Given the description of an element on the screen output the (x, y) to click on. 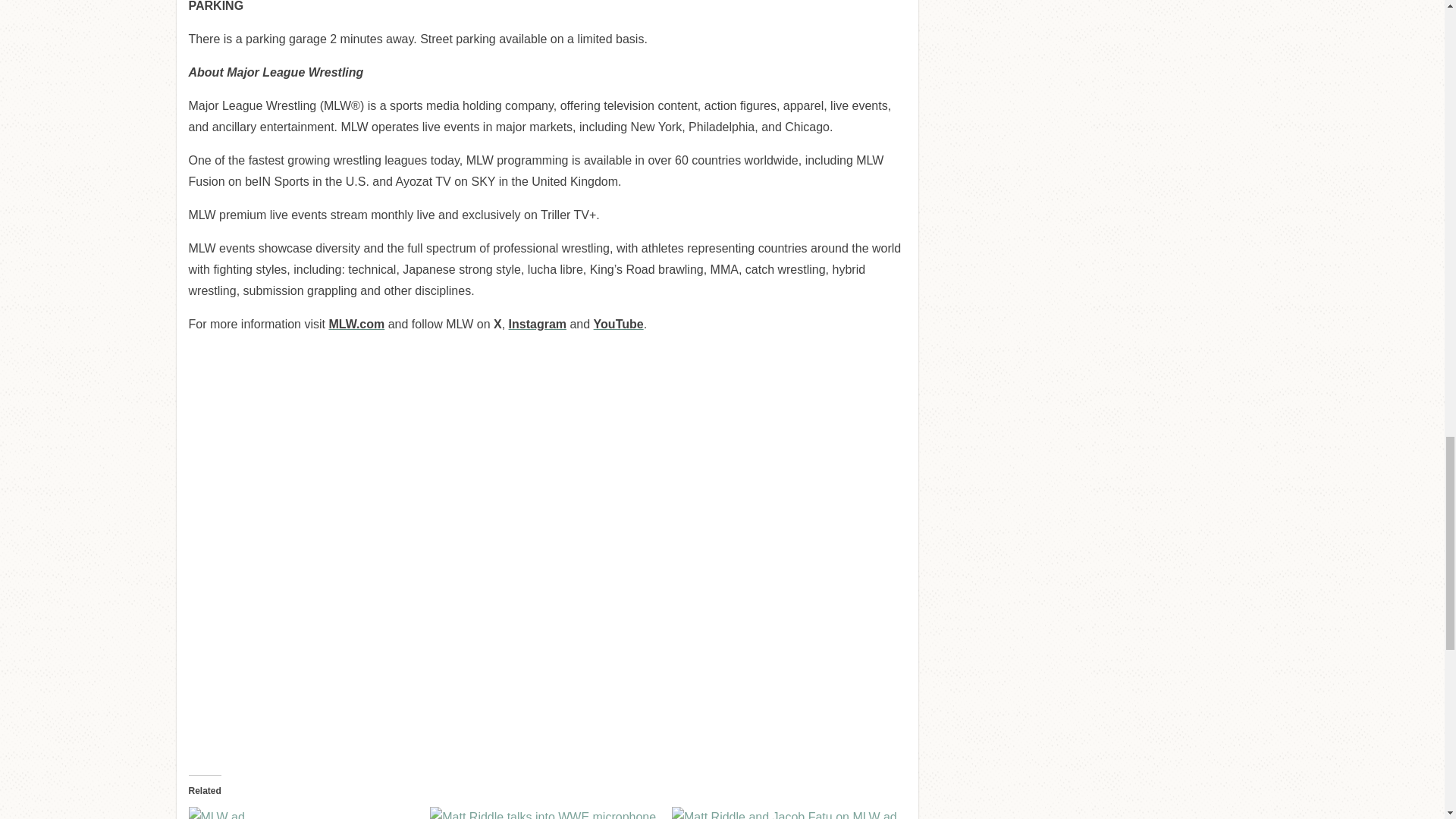
Instagram (537, 323)
YouTube (618, 323)
MLW Advertises Matt Riddle For First-Time-Ever Match (542, 812)
MLW.com (356, 323)
Matt Riddle Officially Joins MLW Roster (300, 812)
